Given the description of an element on the screen output the (x, y) to click on. 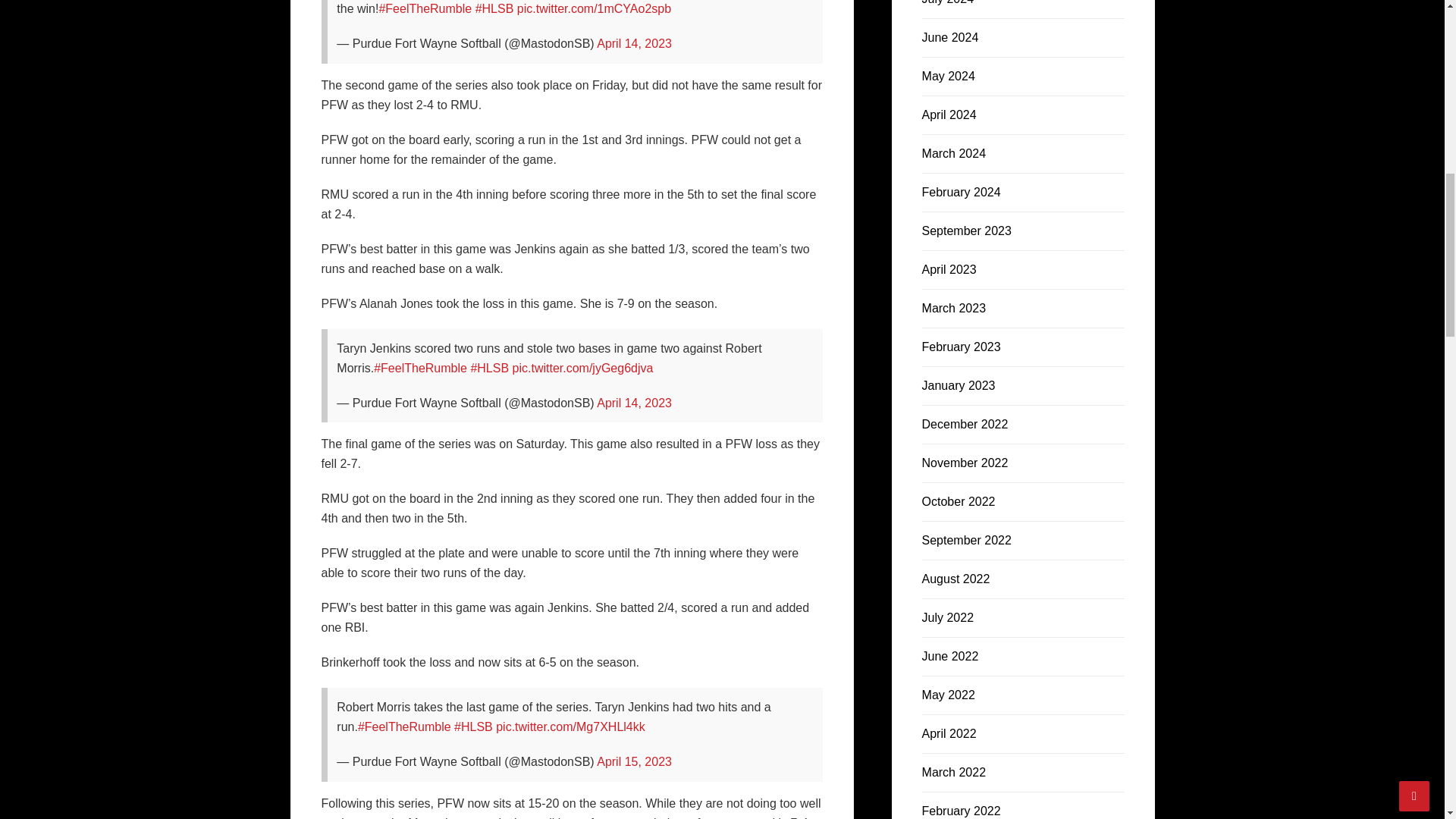
April 14, 2023 (633, 402)
April 15, 2023 (633, 761)
April 14, 2023 (633, 42)
